Given the description of an element on the screen output the (x, y) to click on. 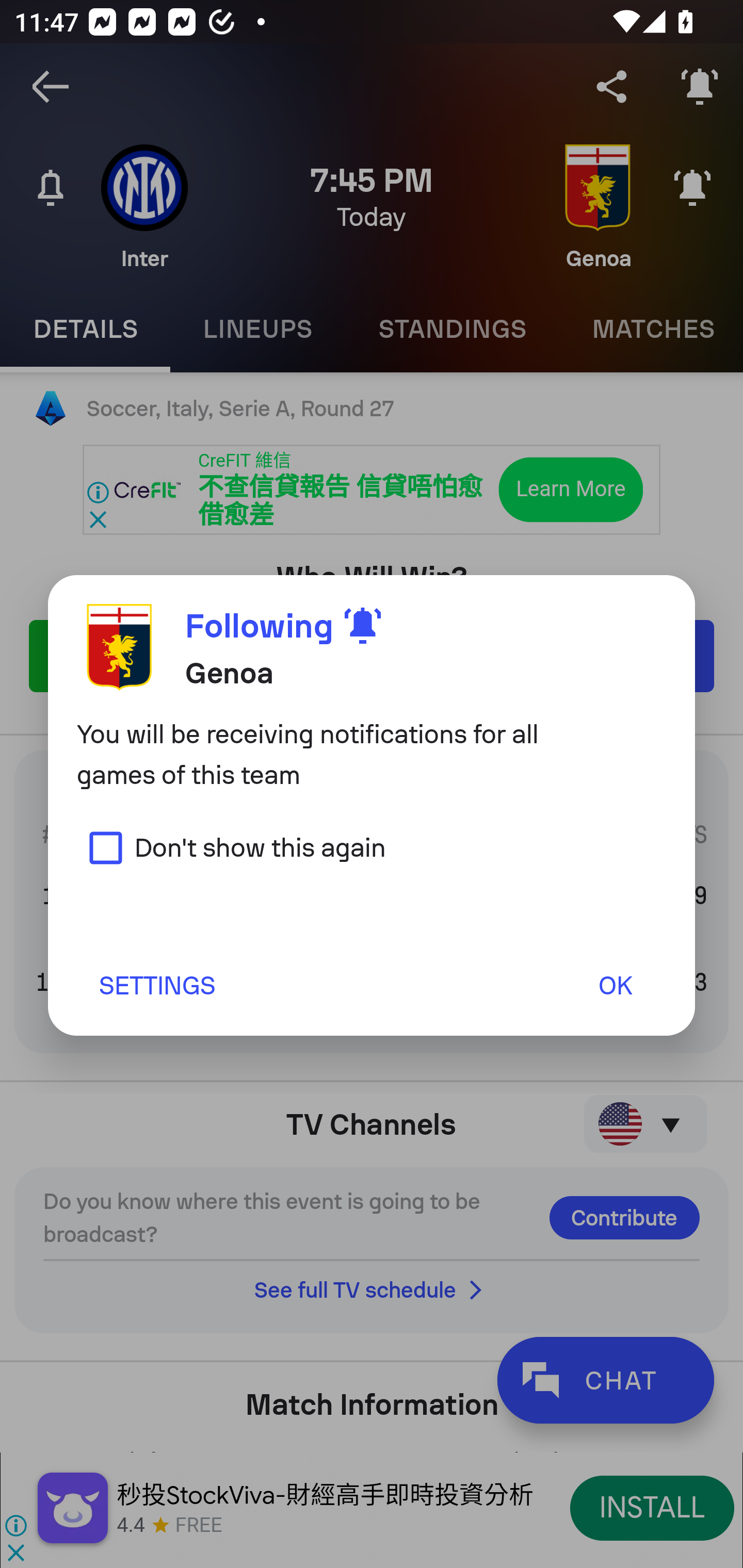
Don't show this again (231, 847)
SETTINGS (156, 985)
OK (615, 985)
